Given the description of an element on the screen output the (x, y) to click on. 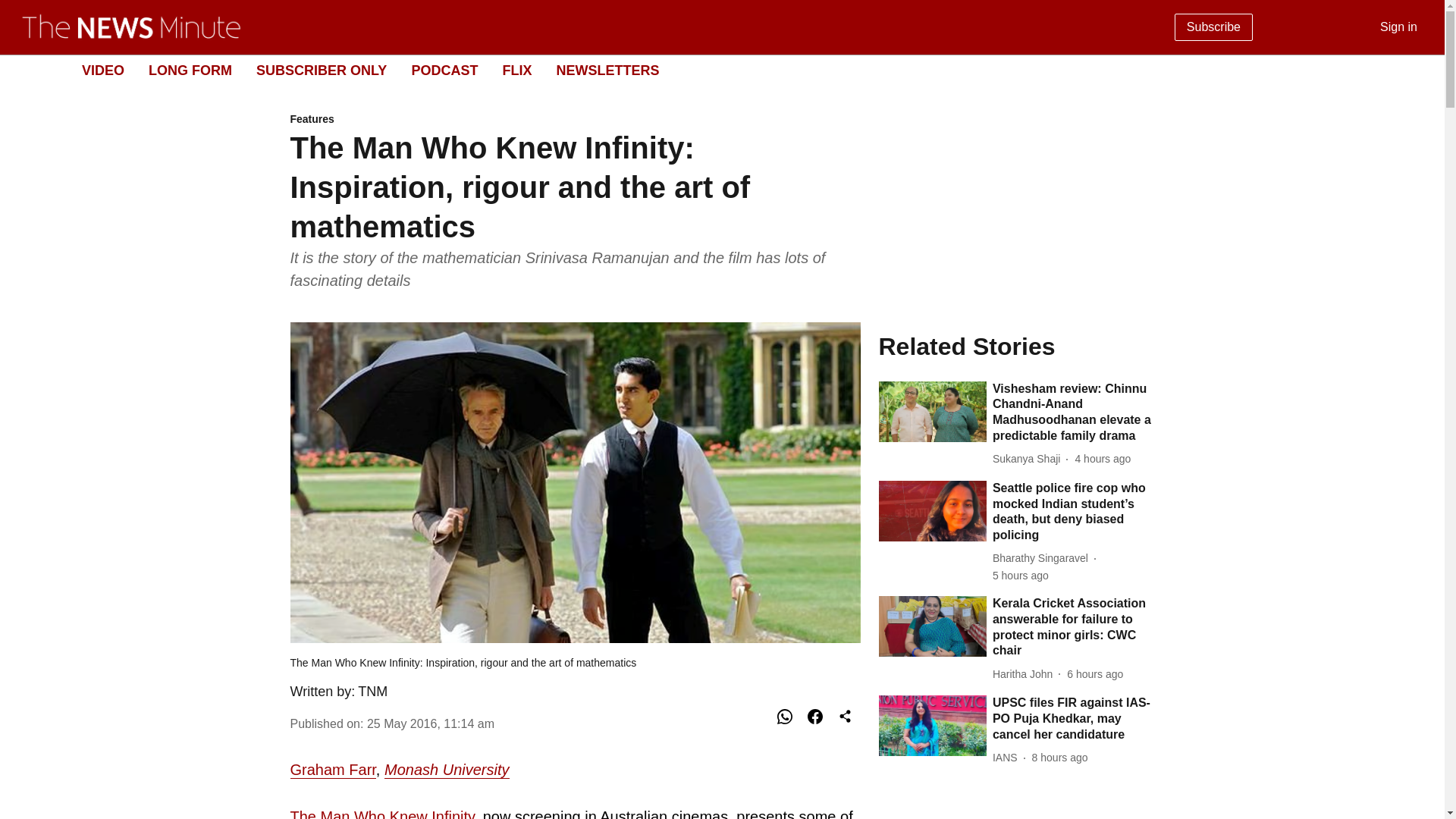
Dark Mode (1415, 70)
FLIX (709, 70)
Features (516, 70)
LONG FORM (574, 119)
VIDEO (189, 70)
Monash University (102, 70)
The Man Who Knew Infinity (446, 769)
2016-05-25 03:14 (381, 813)
SUBSCRIBER ONLY (430, 723)
Graham Farr (321, 70)
2024-07-19 11:17 (332, 769)
PODCAST (1059, 757)
NEWSLETTERS (443, 70)
2024-07-19 13:03 (607, 70)
